Given the description of an element on the screen output the (x, y) to click on. 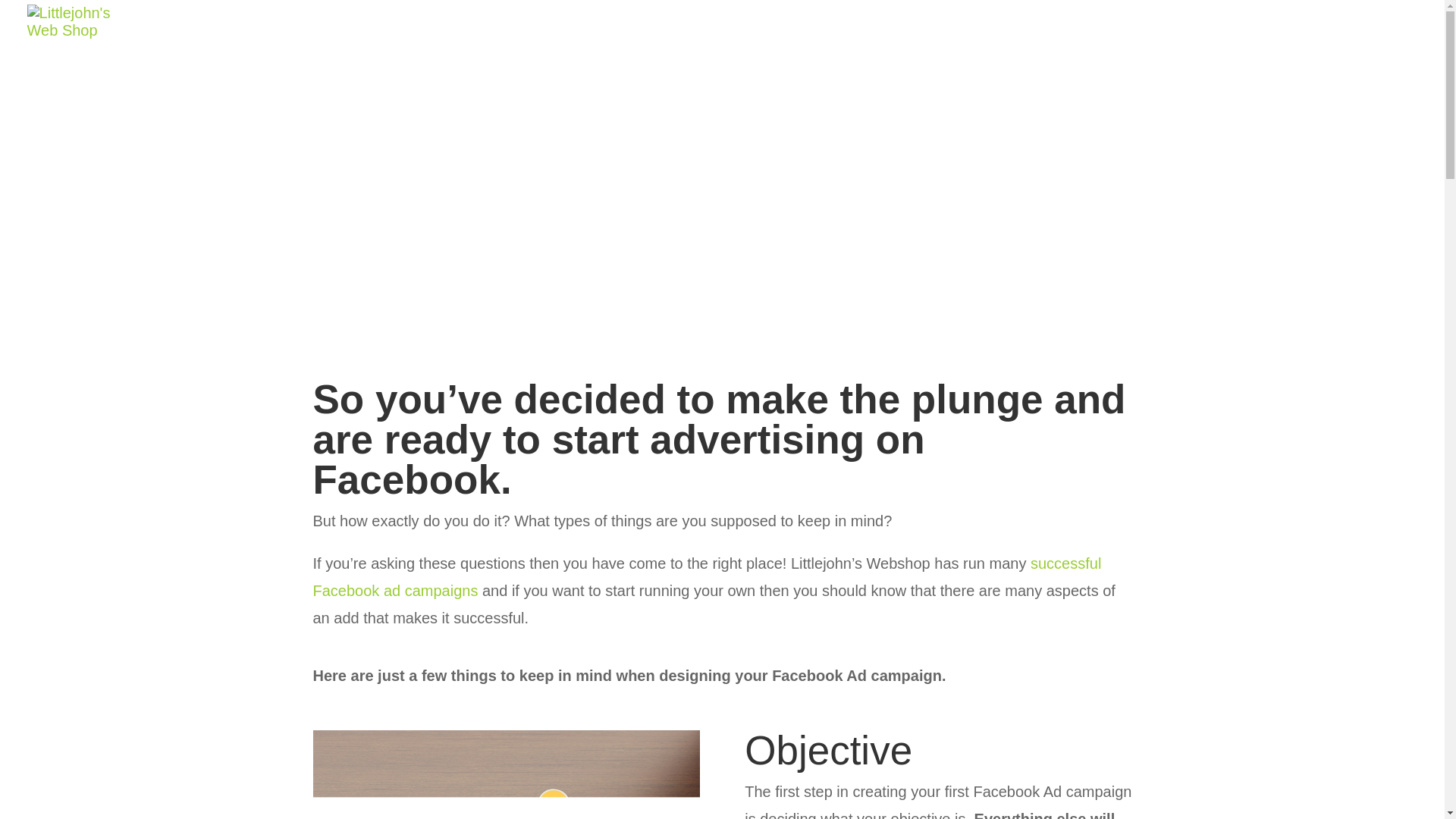
successful Facebook ad campaigns (706, 576)
Contact (1365, 67)
Web Design Portfolio (985, 67)
Website Design Company (886, 67)
Reviews (1062, 67)
Website Plans (1157, 67)
Portfolio (985, 67)
Website Design (886, 67)
Business (650, 216)
News, Tips and More (761, 216)
